Given the description of an element on the screen output the (x, y) to click on. 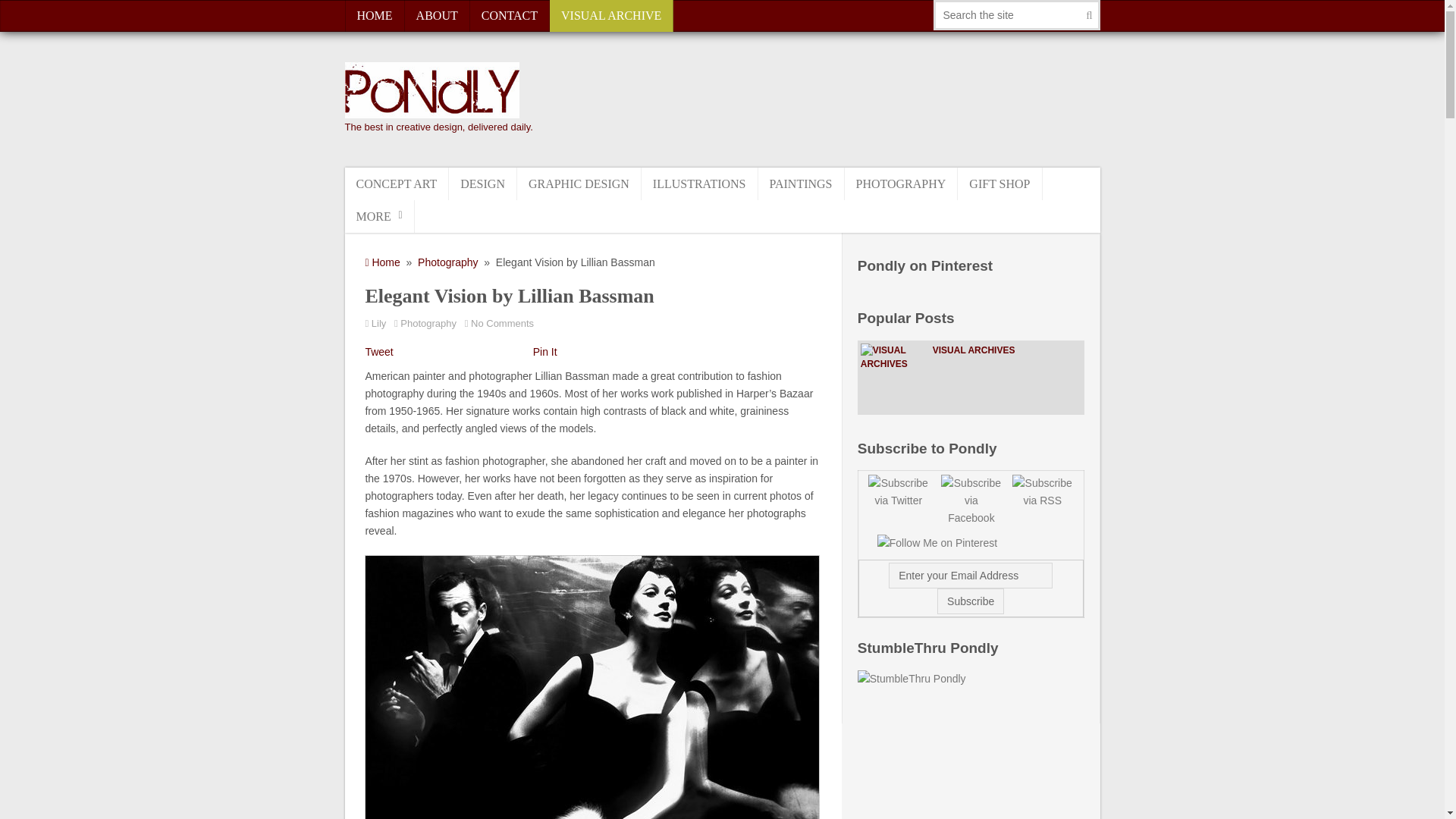
ILLUSTRATIONS (700, 183)
MORE (378, 215)
Tweet (379, 351)
Enter your Email Address (970, 575)
HOME (373, 15)
Photography (428, 323)
PAINTINGS (801, 183)
PHOTOGRAPHY (901, 183)
Subscribe via Twitter (893, 491)
Photography (447, 262)
